Given the description of an element on the screen output the (x, y) to click on. 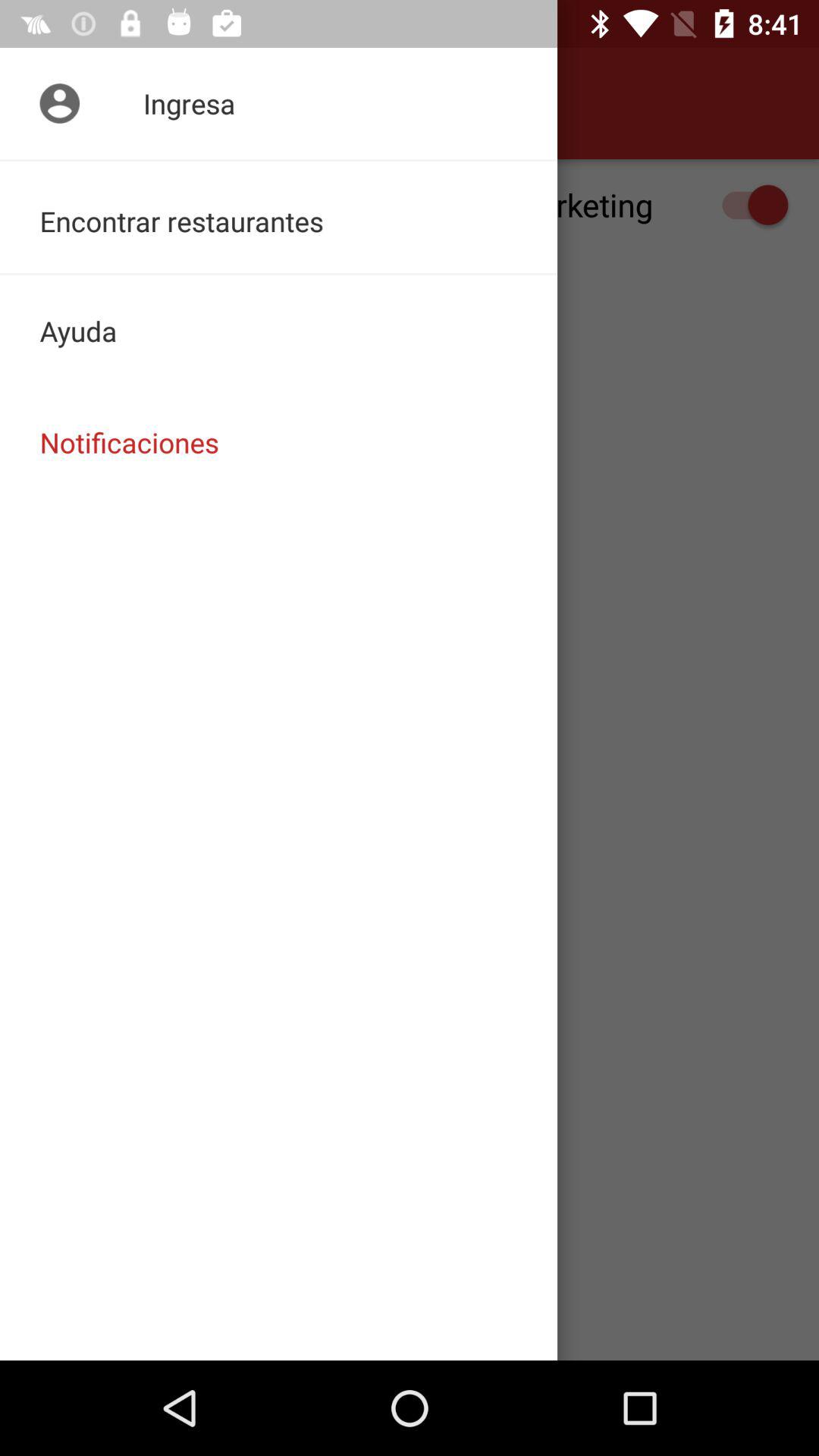
flip to encontrar restaurantes icon (278, 217)
